Given the description of an element on the screen output the (x, y) to click on. 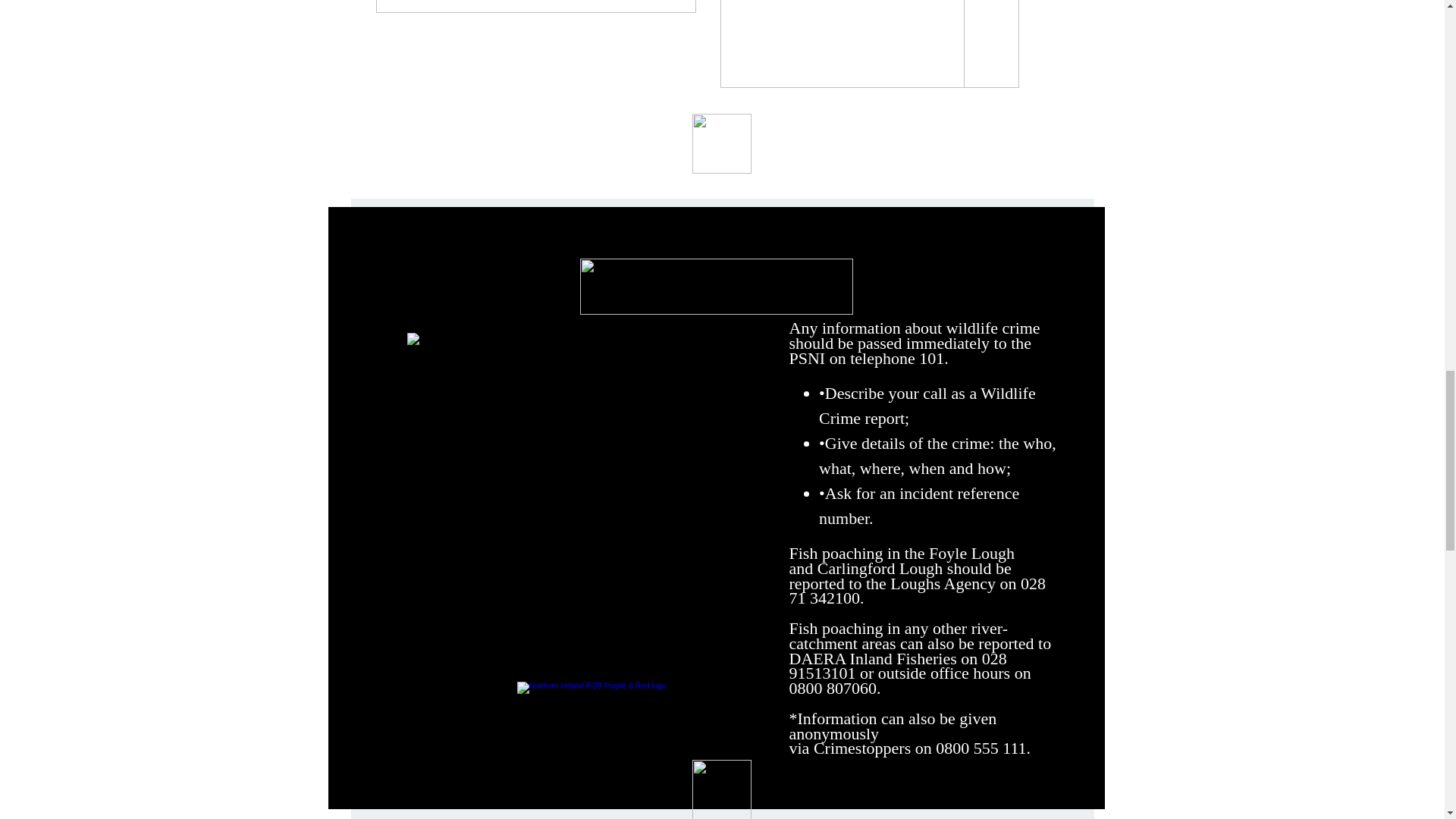
NOT Symbol 2.png (841, 43)
PSNI Logo newcrest.png (542, 469)
Report Wildlife Crime.png (715, 286)
NOT Symbol.png (869, 43)
